Given the description of an element on the screen output the (x, y) to click on. 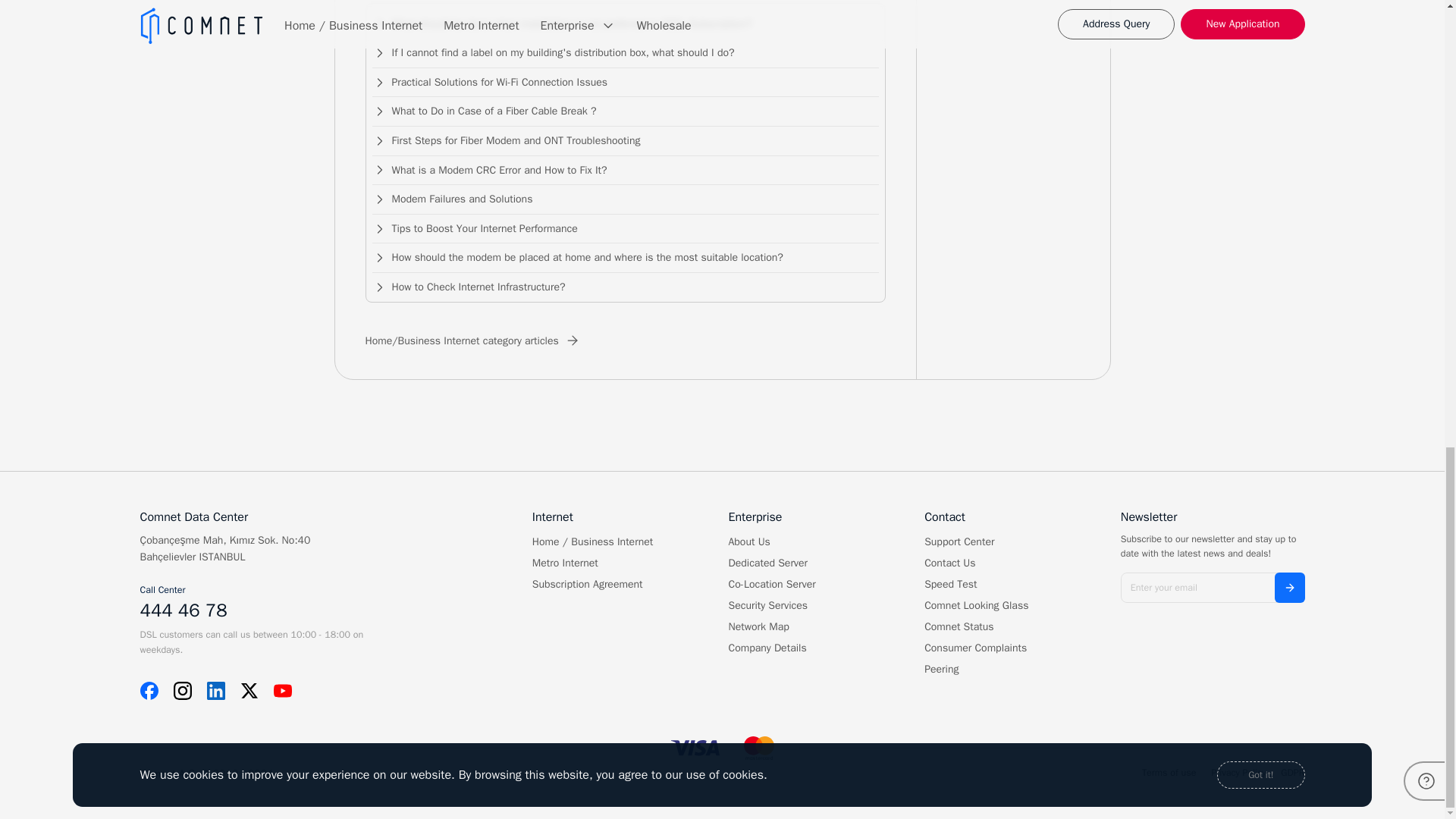
Modem Failures and Solutions (625, 199)
Facebook (148, 690)
What is a Modem CRC Error and How to Fix It? (625, 170)
What to Do in Case of a Fiber Cable Break ? (625, 111)
How to Check Internet Infrastructure? (625, 283)
Youtube (282, 690)
Linkedin (215, 690)
Instagram (181, 690)
First Steps for Fiber Modem and ONT Troubleshooting (625, 141)
Practical Solutions for Wi-Fi Connection Issues (625, 82)
Twitter (248, 690)
Tips to Boost Your Internet Performance (625, 229)
